Given the description of an element on the screen output the (x, y) to click on. 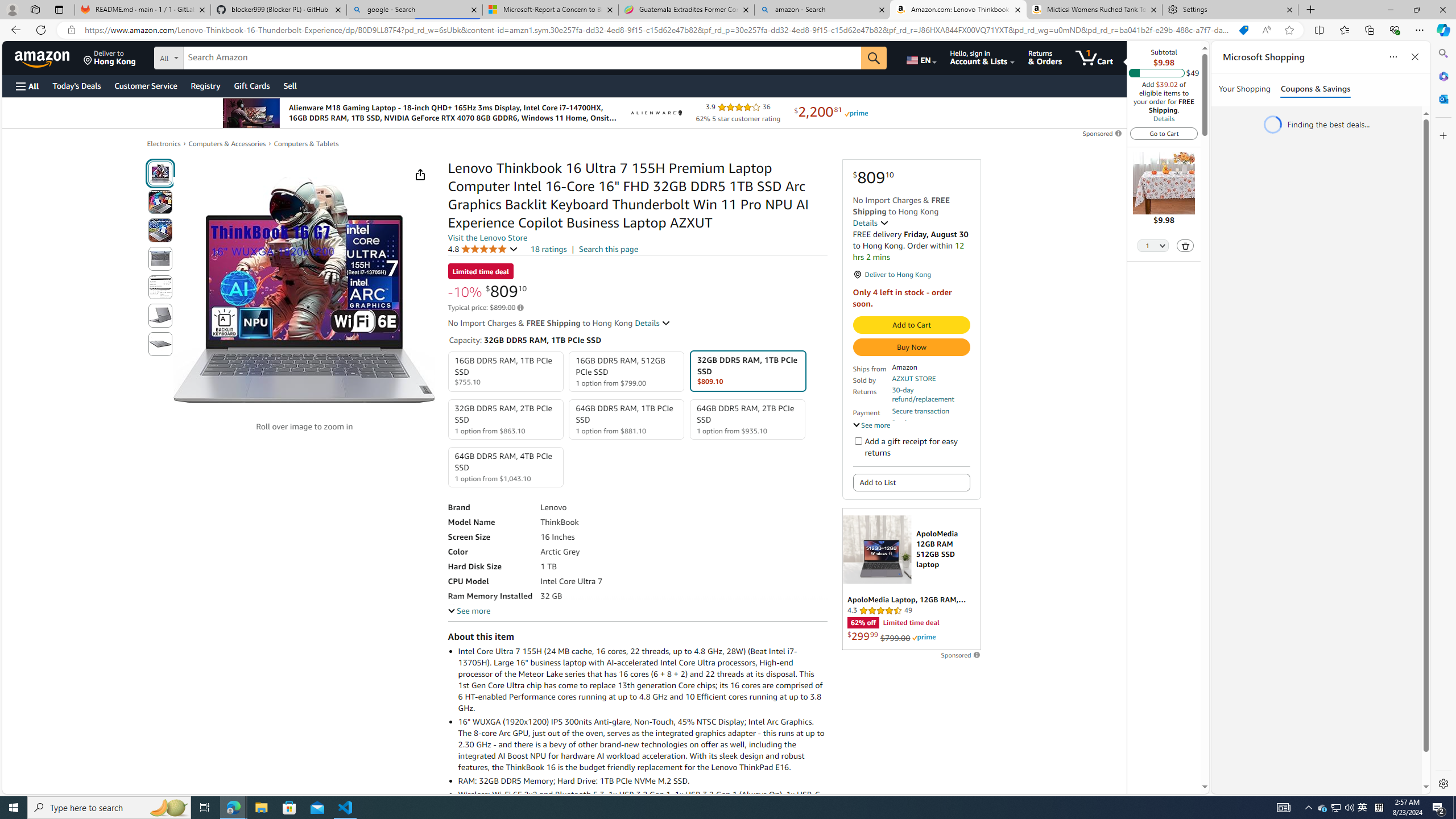
32GB DDR5 RAM, 2TB PCIe SSD 1 option from $863.10 (505, 418)
Microsoft-Report a Concern to Bing (550, 9)
Quantity Selector (1153, 246)
Visit the Lenovo Store (486, 237)
Registry (205, 85)
See more (468, 610)
4.8 4.8 out of 5 stars (482, 248)
Go (873, 57)
Outlook (1442, 98)
Electronics (163, 144)
32GB DDR5 RAM, 1TB PCIe SSD $809.10 (747, 370)
